Given the description of an element on the screen output the (x, y) to click on. 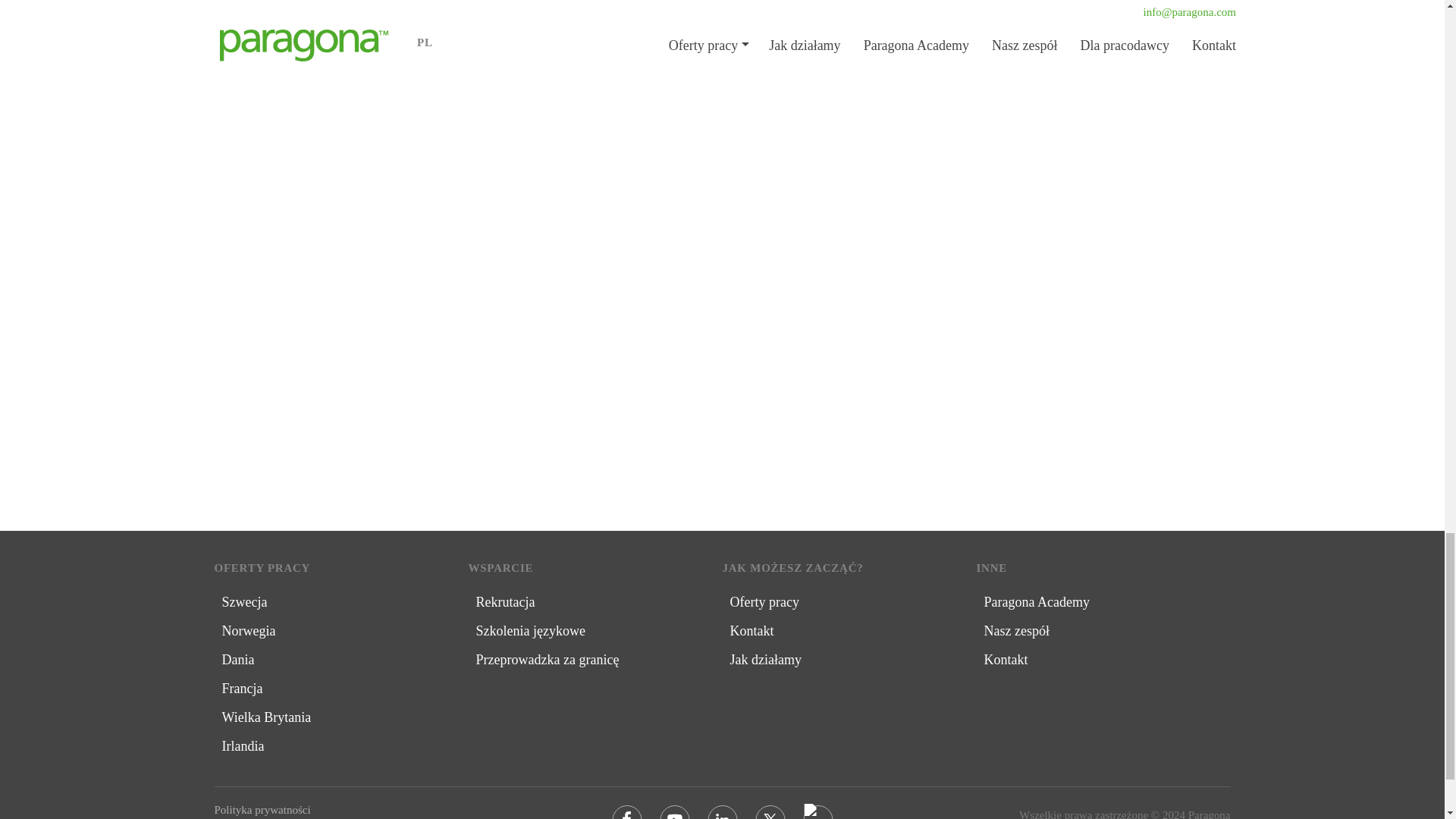
Norwegia (248, 631)
Szwecja (243, 602)
Irlandia (242, 745)
Dania (237, 659)
Paragona Academy (1036, 602)
Francja (241, 688)
Rekrutacja (505, 602)
Kontakt (751, 631)
Kontakt (1005, 659)
Send (722, 408)
Wielka Brytania (266, 716)
Oferty pracy (763, 602)
